Given the description of an element on the screen output the (x, y) to click on. 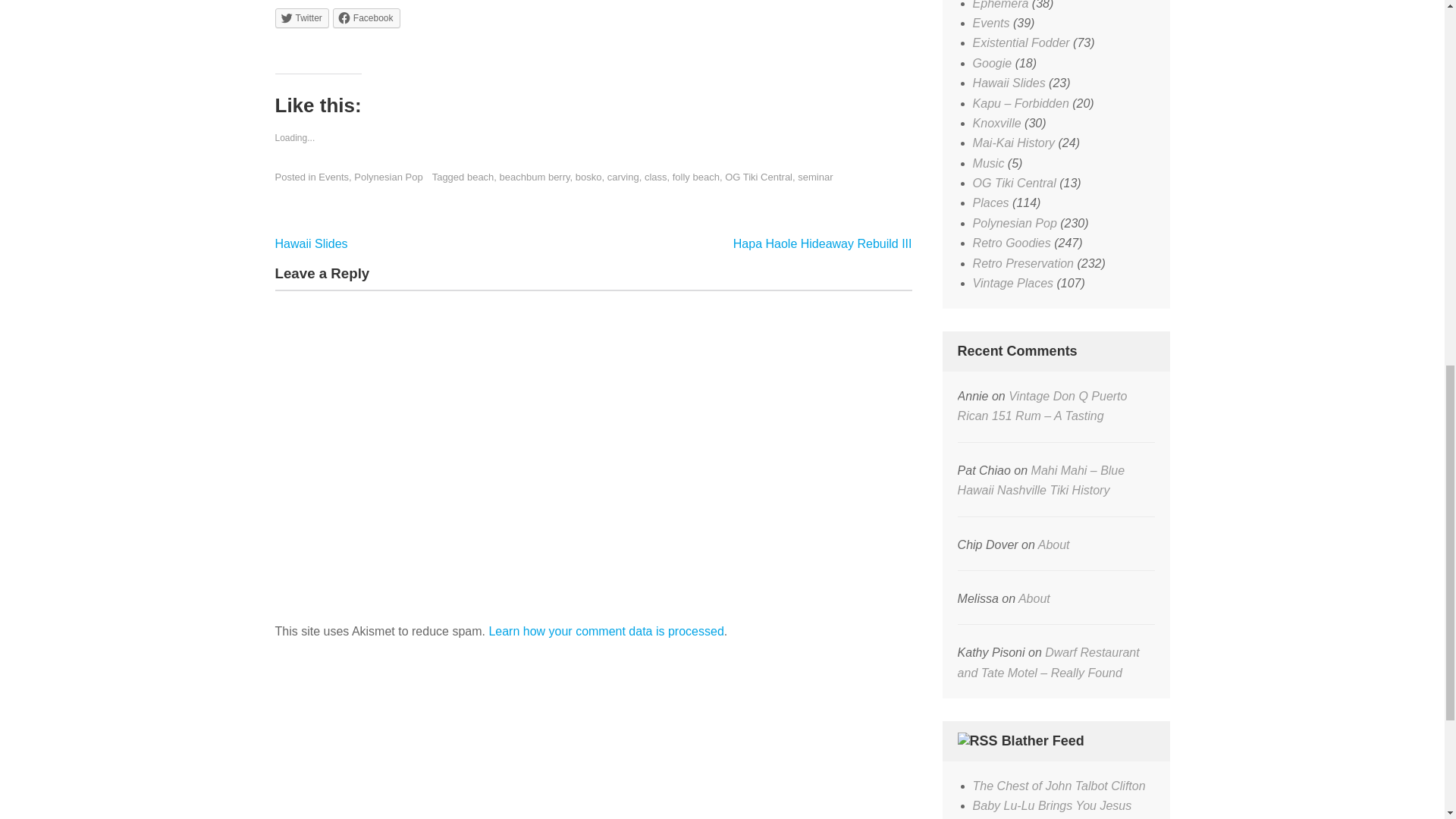
Hapa Haole Hideaway Rebuild III (822, 242)
OG Tiki Central (758, 176)
carving (623, 176)
seminar (814, 176)
beach (480, 176)
folly beach (695, 176)
Twitter (302, 17)
beachbum berry (534, 176)
Click to share on Twitter (302, 17)
